Given the description of an element on the screen output the (x, y) to click on. 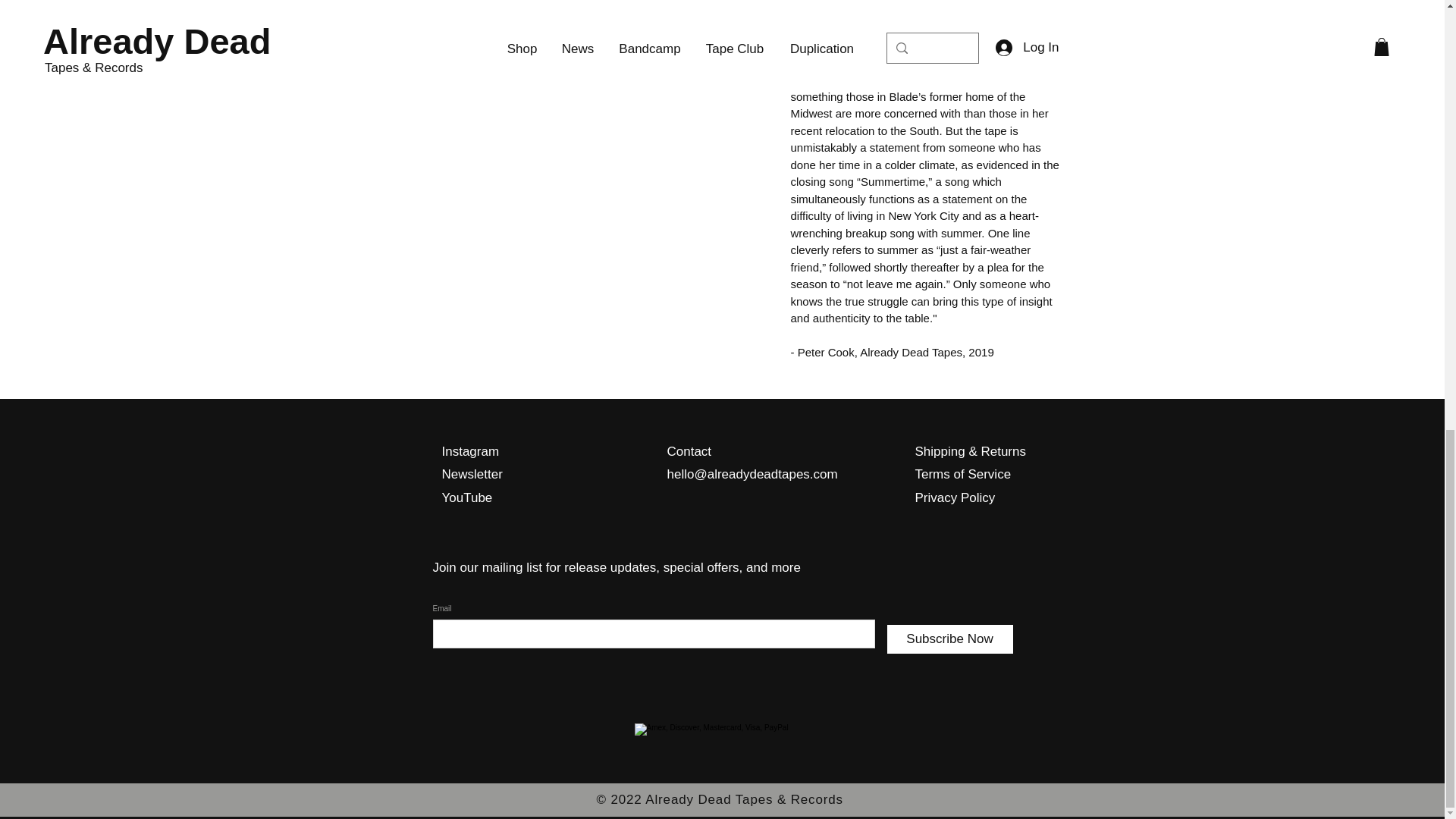
Instagram (470, 451)
YouTube (466, 497)
Terms of Service (962, 473)
Contact (688, 463)
Newsletter (471, 473)
Privacy Policy (954, 497)
